Given the description of an element on the screen output the (x, y) to click on. 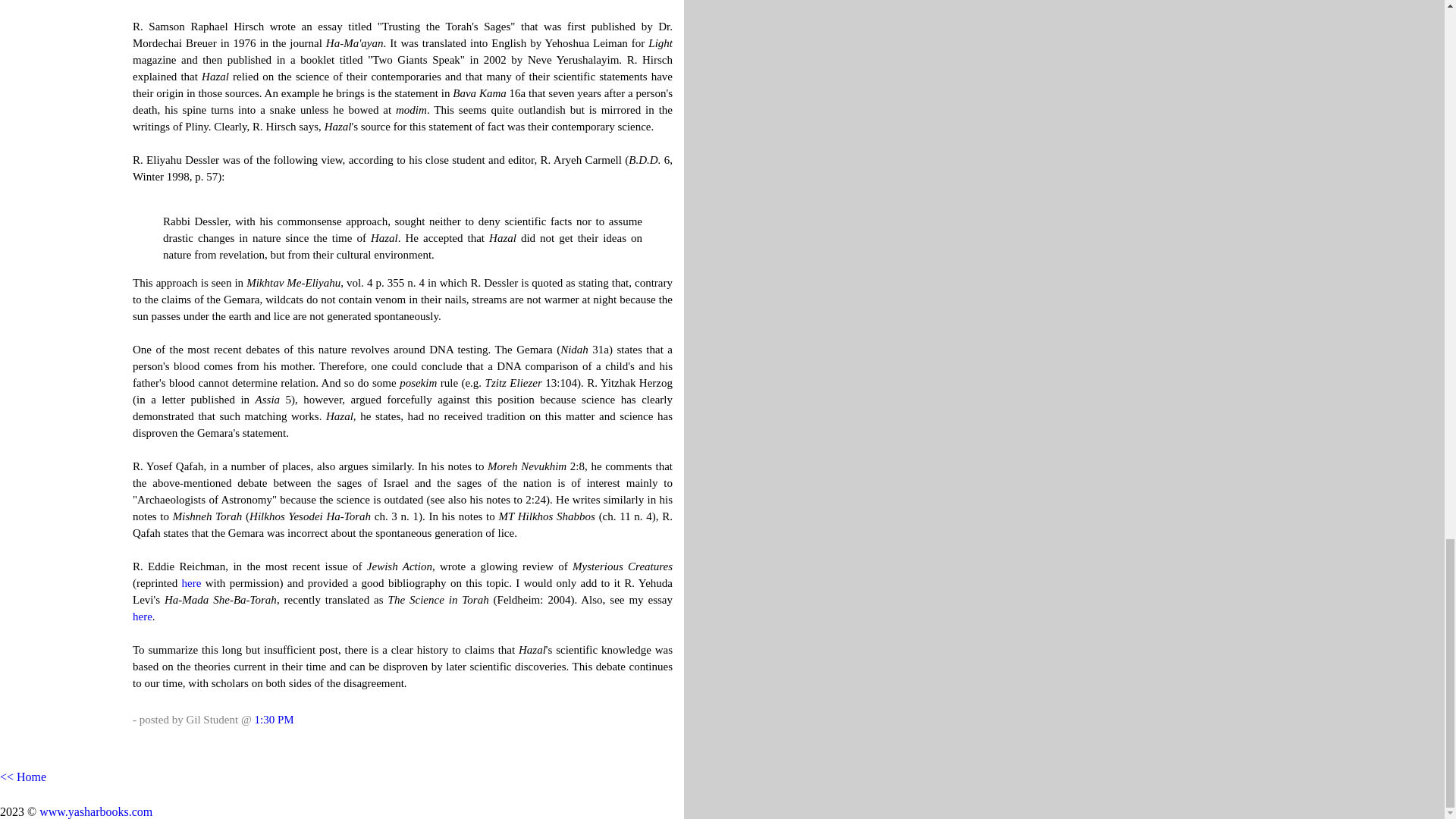
permanent link (273, 719)
